Given the description of an element on the screen output the (x, y) to click on. 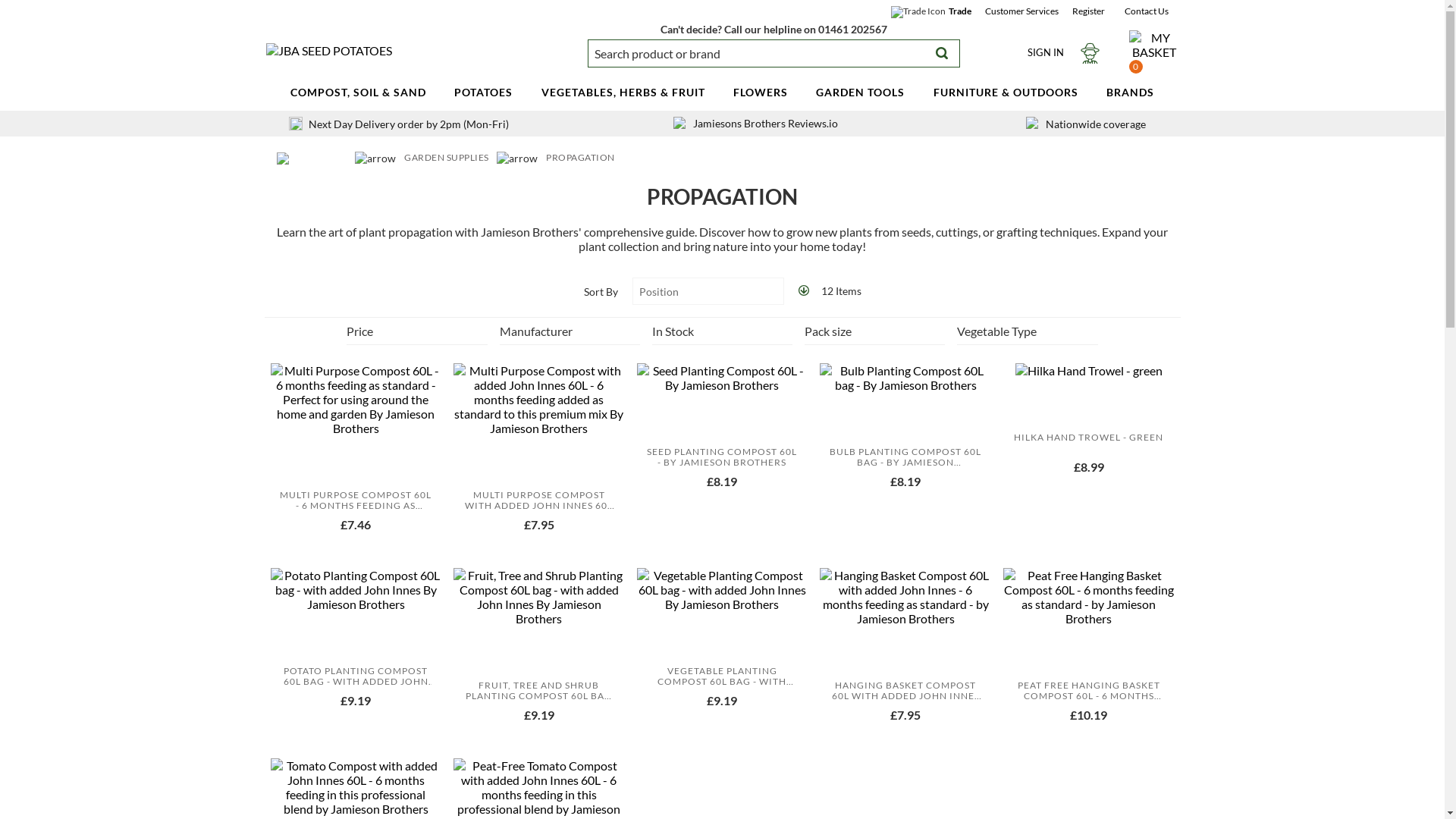
Contact Us (1145, 10)
Customer Services (1021, 10)
Register (1088, 10)
Trade (959, 10)
JBA Seed Potatoes (328, 50)
Register (1088, 10)
Contact Us (1145, 10)
Search (947, 53)
Fill 41 (941, 52)
Customer Services (1021, 10)
Fill 41 (947, 53)
Trade (959, 10)
JBA SEED POTATOES (328, 50)
0 (1154, 51)
SIGN IN (1062, 51)
